Given the description of an element on the screen output the (x, y) to click on. 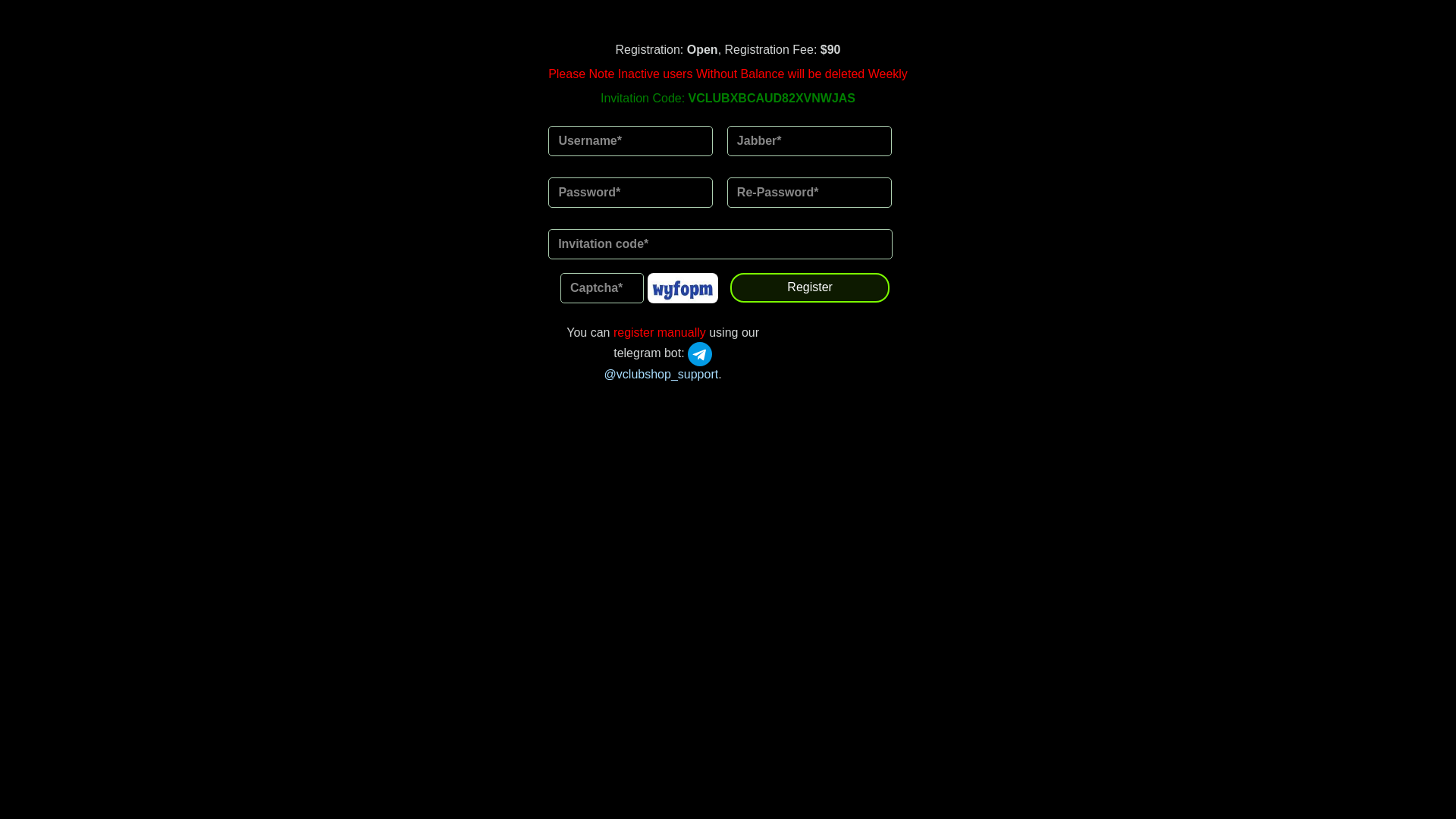
@vclubshop_support Element type: text (661, 363)
Register Element type: text (809, 287)
